Given the description of an element on the screen output the (x, y) to click on. 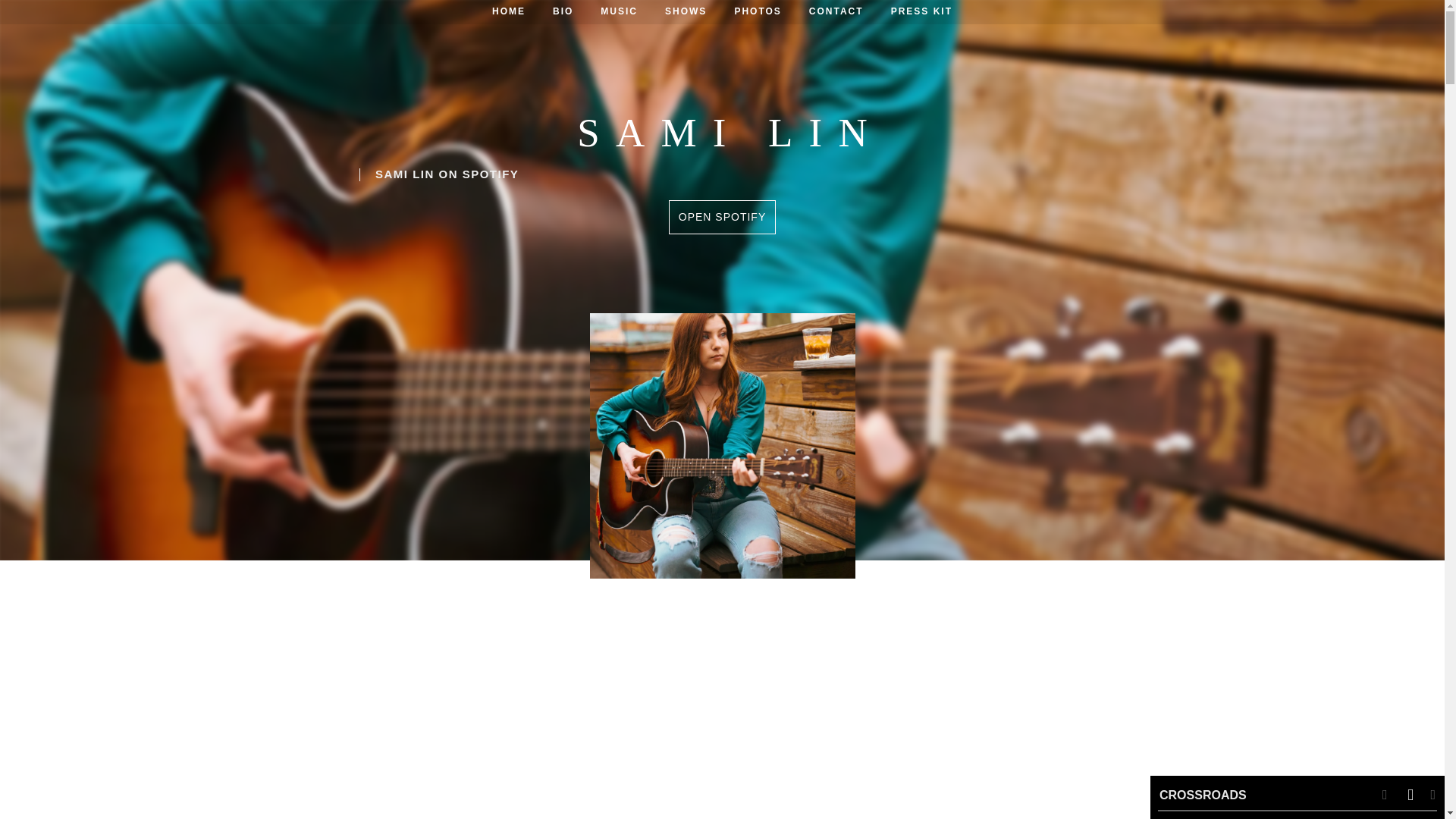
CONTACT (835, 12)
SAMI LIN (721, 138)
MUSIC (618, 12)
HOME (508, 12)
PRESS KIT (921, 12)
SHOWS (685, 12)
PHOTOS (757, 12)
BIO (562, 12)
OPEN SPOTIFY (722, 217)
